Given the description of an element on the screen output the (x, y) to click on. 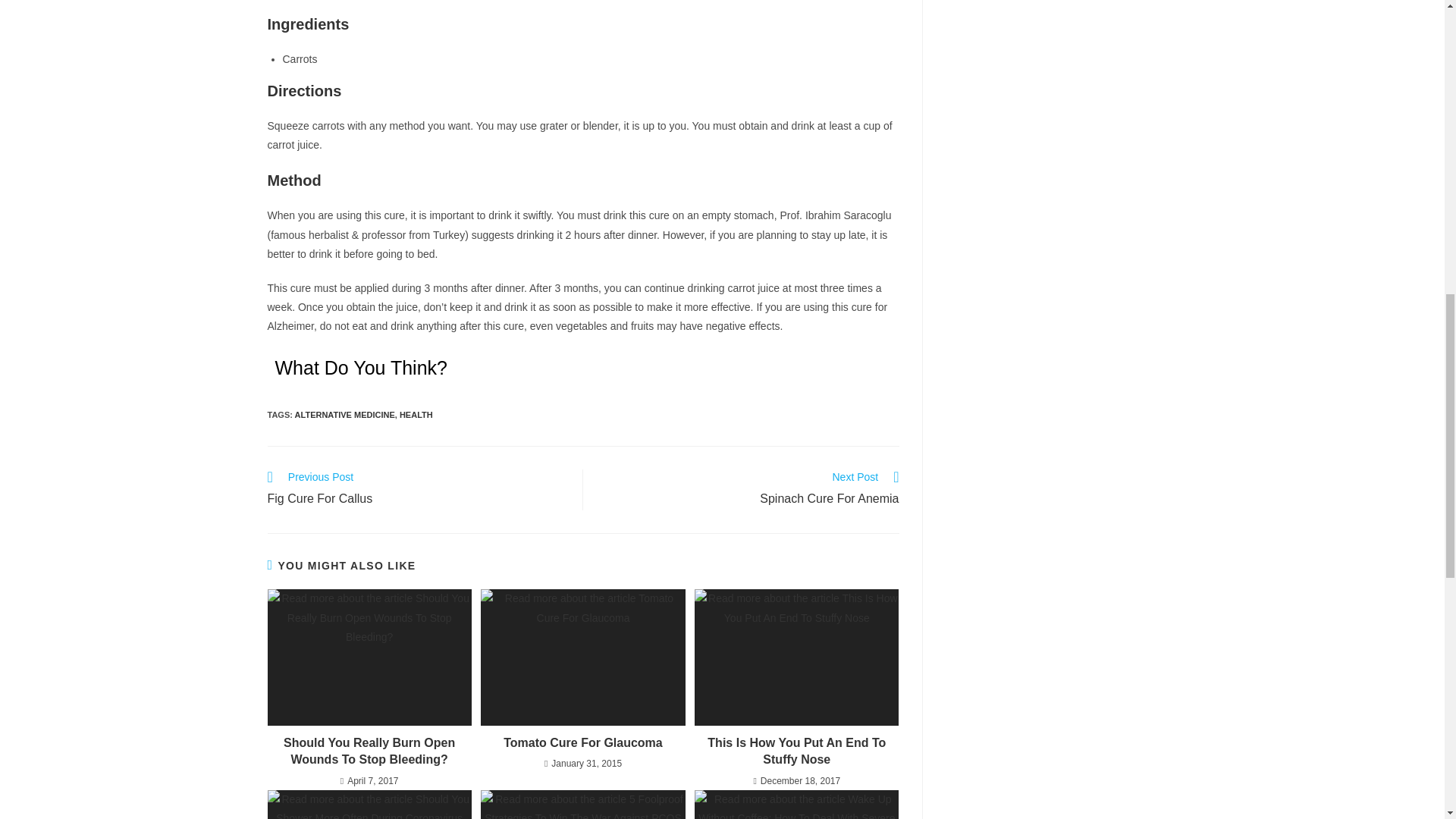
This Is How You Put An End To Stuffy Nose (796, 751)
HEALTH (415, 414)
Tomato Cure For Glaucoma (748, 489)
Should You Really Burn Open Wounds To Stop Bleeding? (582, 742)
ALTERNATIVE MEDICINE (416, 489)
